Given the description of an element on the screen output the (x, y) to click on. 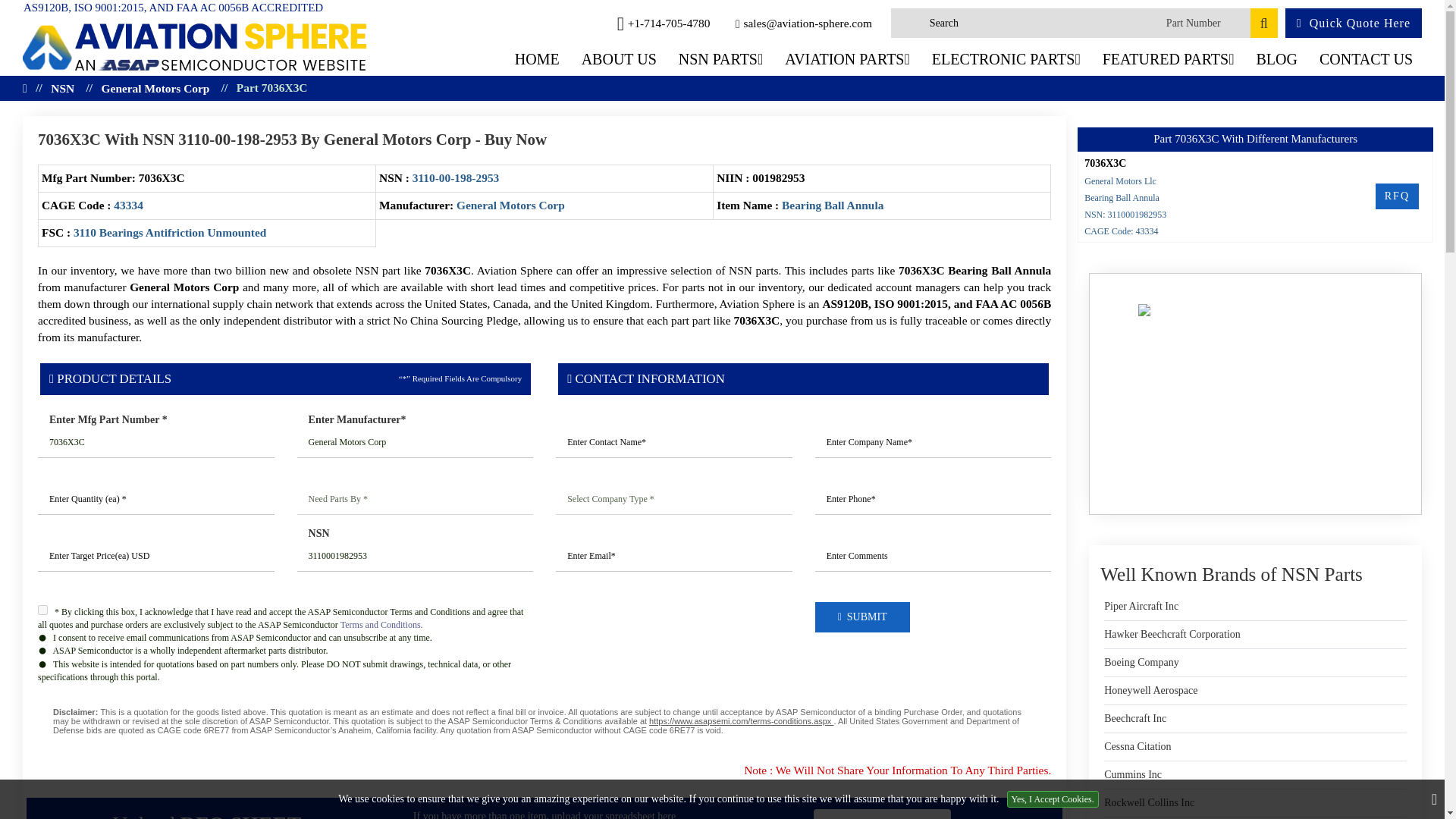
ABOUT US (618, 58)
BLOG (1276, 58)
General Motors Corp (415, 442)
NSN PARTS (721, 58)
on (42, 610)
RFQ Disclaimer (544, 721)
7036X3C (156, 442)
3110001982953 (415, 556)
ELECTRONIC PARTS (1006, 58)
CONTACT US (1366, 58)
